Given the description of an element on the screen output the (x, y) to click on. 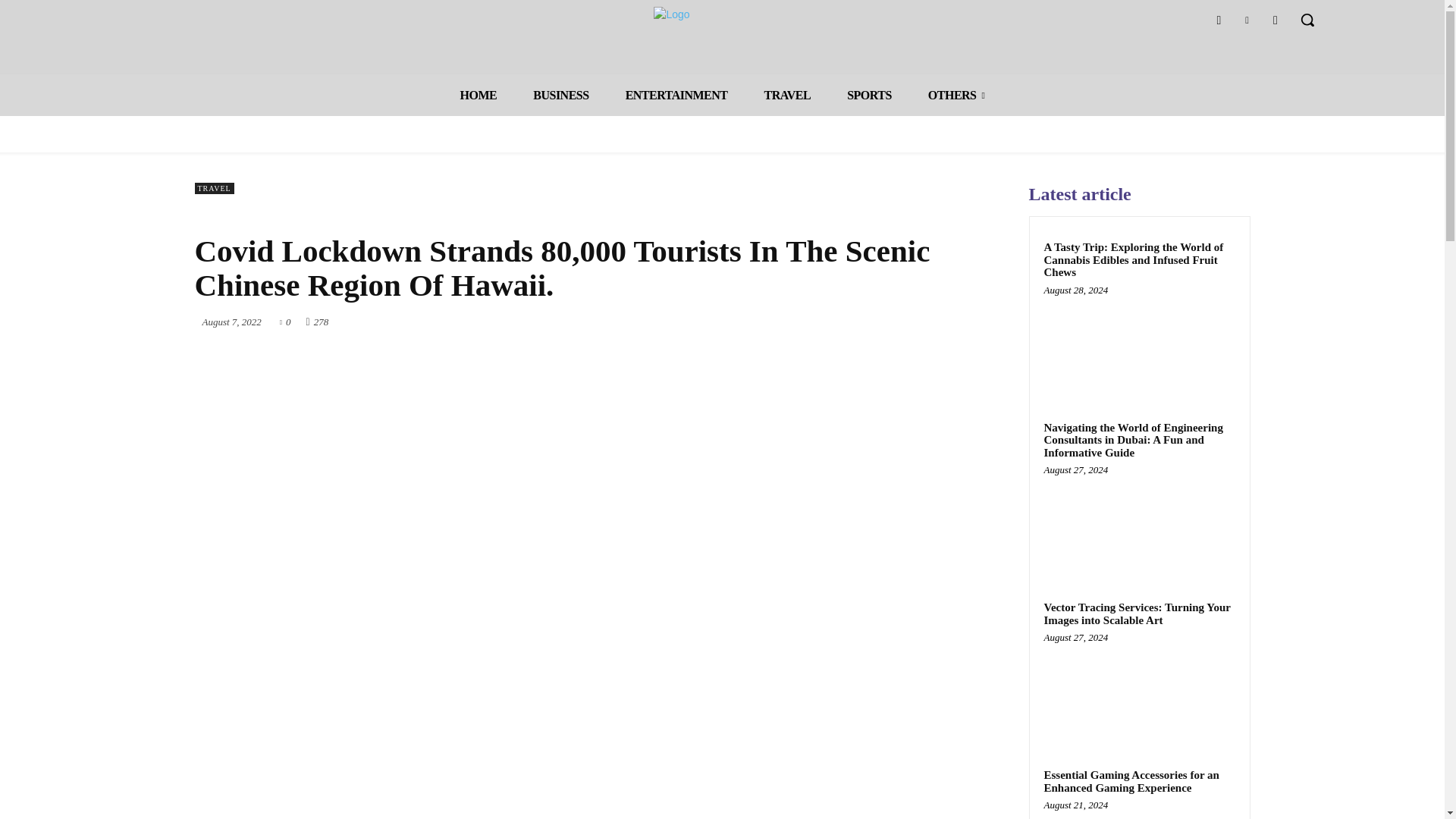
TRAVEL (787, 95)
TRAVEL (212, 188)
ENTERTAINMENT (676, 95)
Youtube (1275, 19)
HOME (478, 95)
Facebook (1218, 19)
Twitter (1246, 19)
BUSINESS (561, 95)
0 (285, 320)
SPORTS (869, 95)
